Given the description of an element on the screen output the (x, y) to click on. 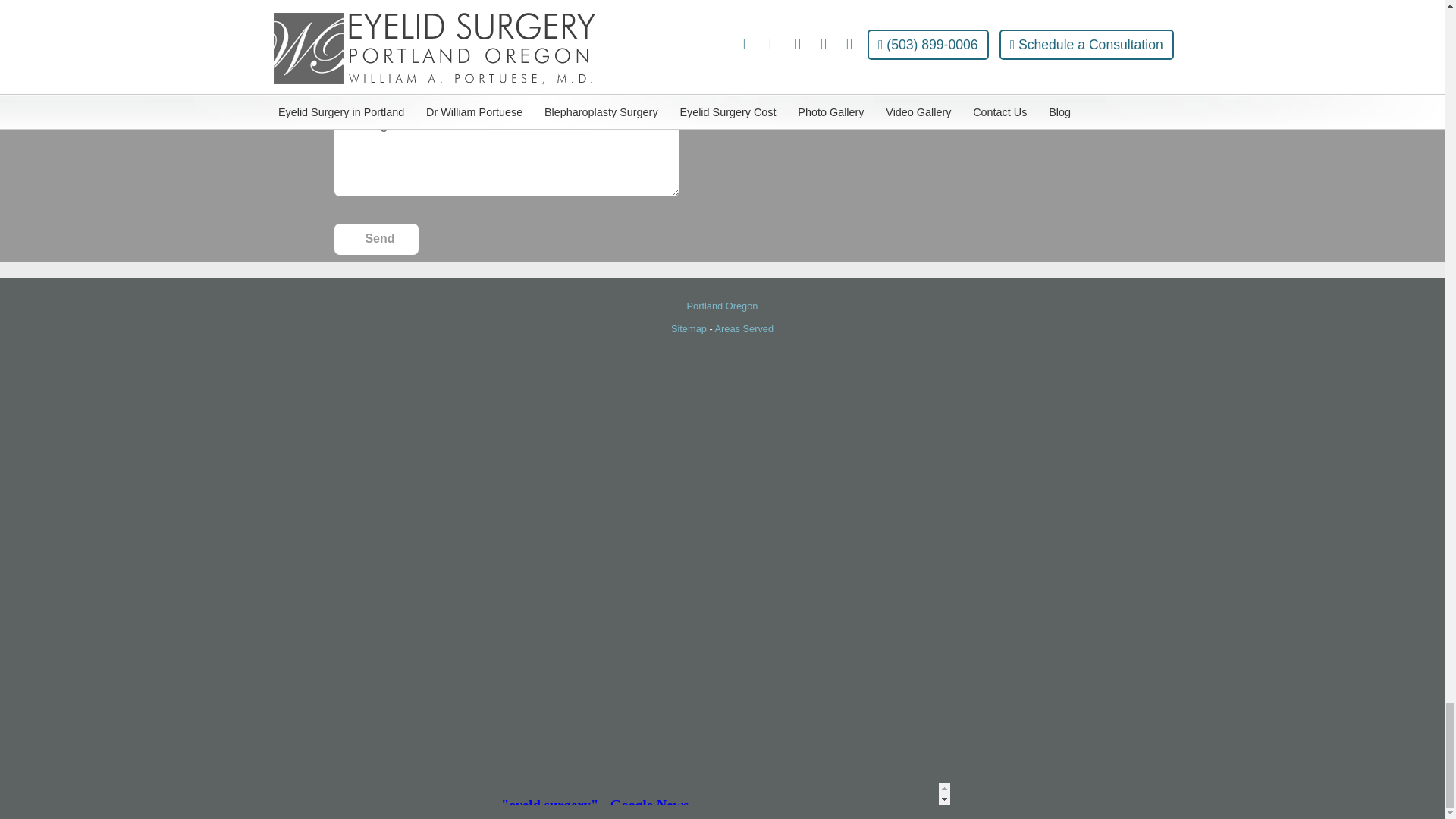
Sitemap (688, 328)
Portland Oregon (722, 306)
Areas Served (744, 328)
Send (375, 238)
Send (375, 238)
